Given the description of an element on the screen output the (x, y) to click on. 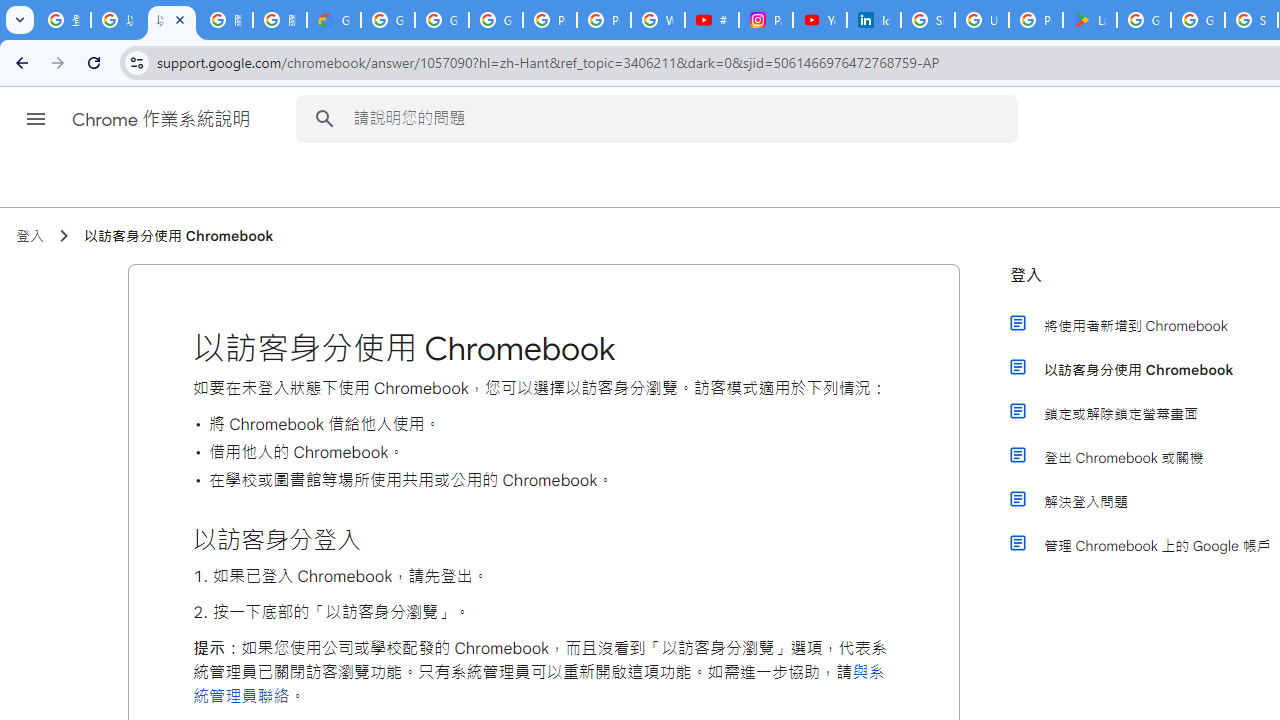
Sign in - Google Accounts (927, 20)
YouTube Culture & Trends - On The Rise: Handcam Videos (819, 20)
